Given the description of an element on the screen output the (x, y) to click on. 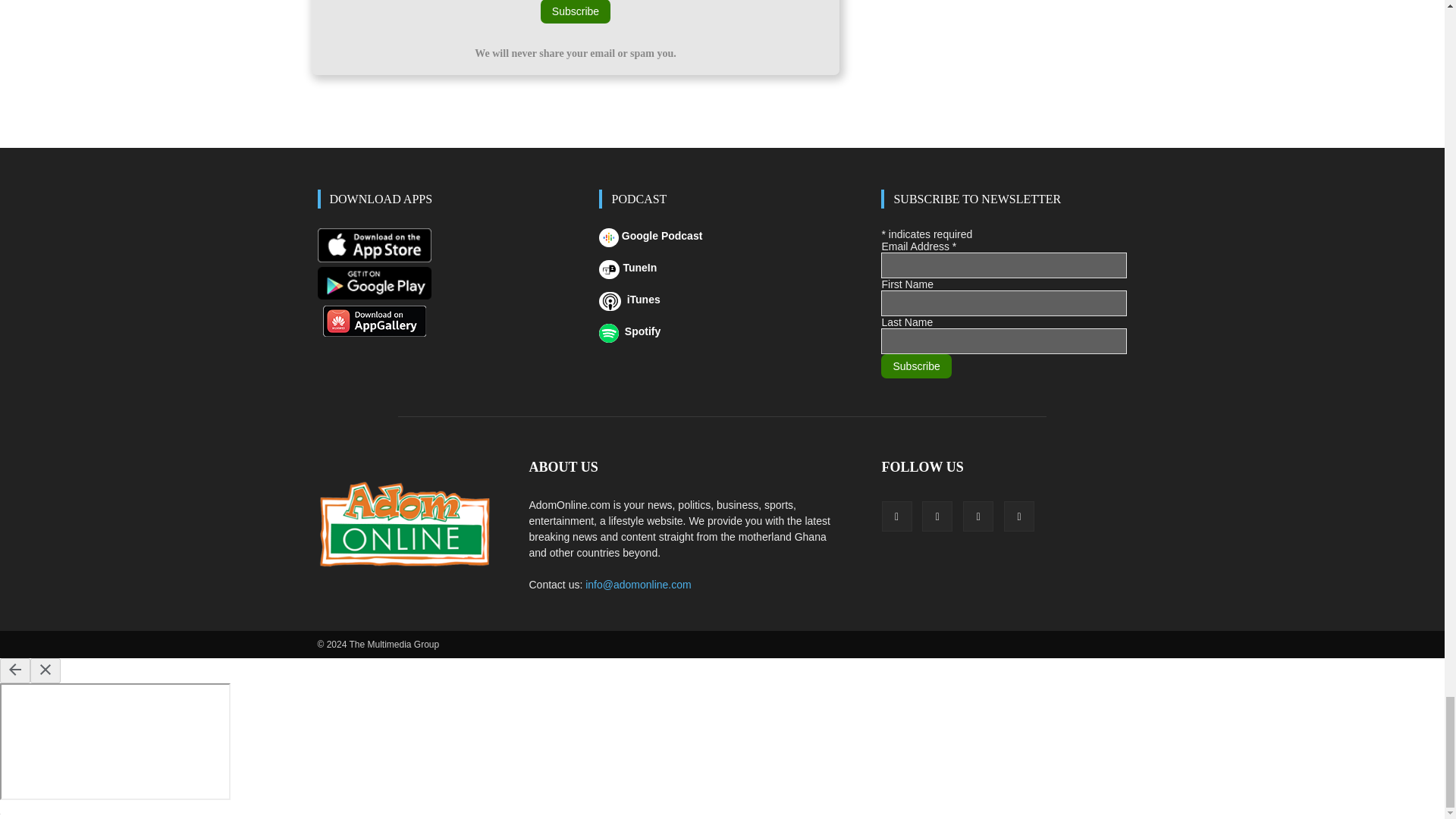
Subscribe (575, 11)
Subscribe (915, 365)
